Given the description of an element on the screen output the (x, y) to click on. 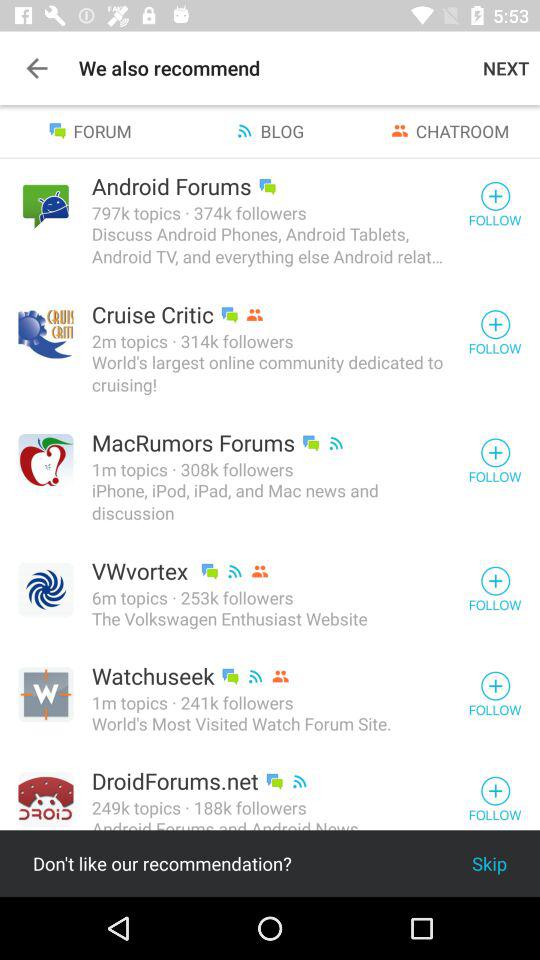
select the icon above chatroom item (506, 68)
